Given the description of an element on the screen output the (x, y) to click on. 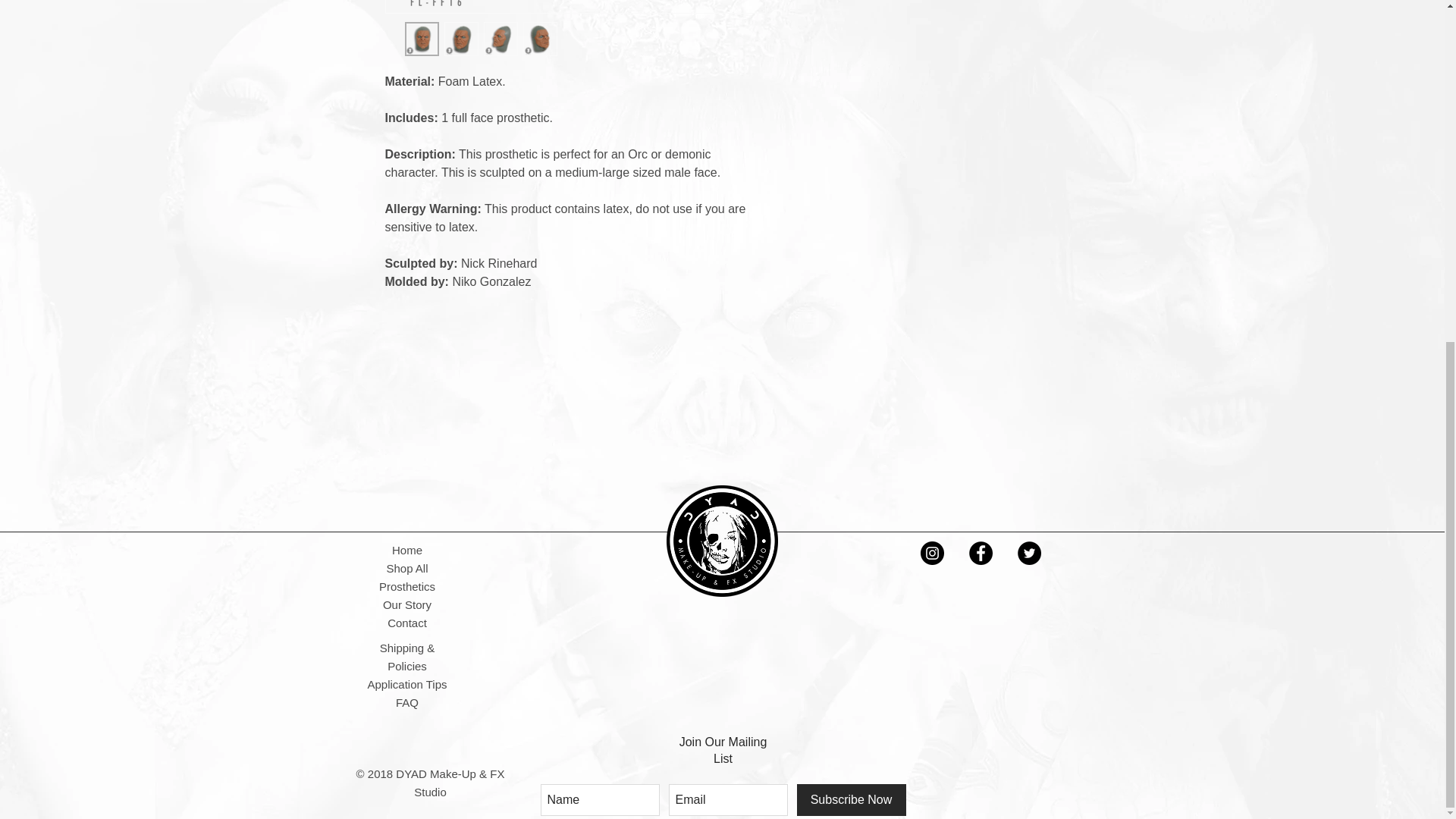
Contact (406, 622)
Application Tips (406, 684)
Shop All Prosthetics (406, 576)
FAQ (407, 702)
Home (406, 549)
Our Story (406, 604)
Subscribe Now (850, 799)
